Given the description of an element on the screen output the (x, y) to click on. 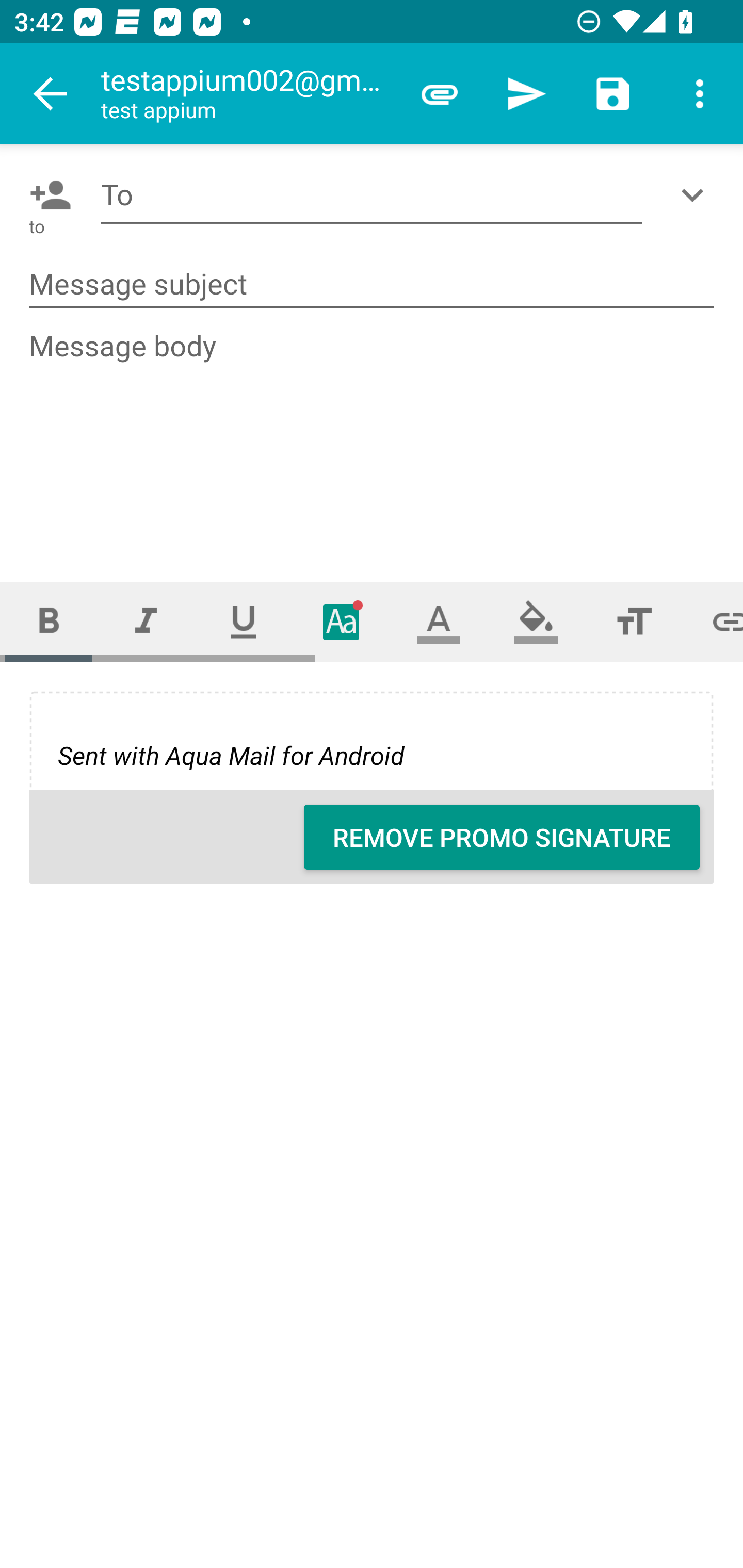
Navigate up (50, 93)
testappium002@gmail.com test appium (248, 93)
Attach (439, 93)
Send (525, 93)
Save (612, 93)
More options (699, 93)
Pick contact: To (46, 195)
Show/Add CC/BCC (696, 195)
To (371, 195)
Message subject (371, 284)
Message body (372, 438)
Bold (48, 621)
Italic (145, 621)
Underline (243, 621)
Typeface (font) (341, 621)
Text color (438, 621)
Fill color (536, 621)
Font size (633, 621)
Set link (712, 621)
REMOVE PROMO SIGNATURE (501, 837)
